Given the description of an element on the screen output the (x, y) to click on. 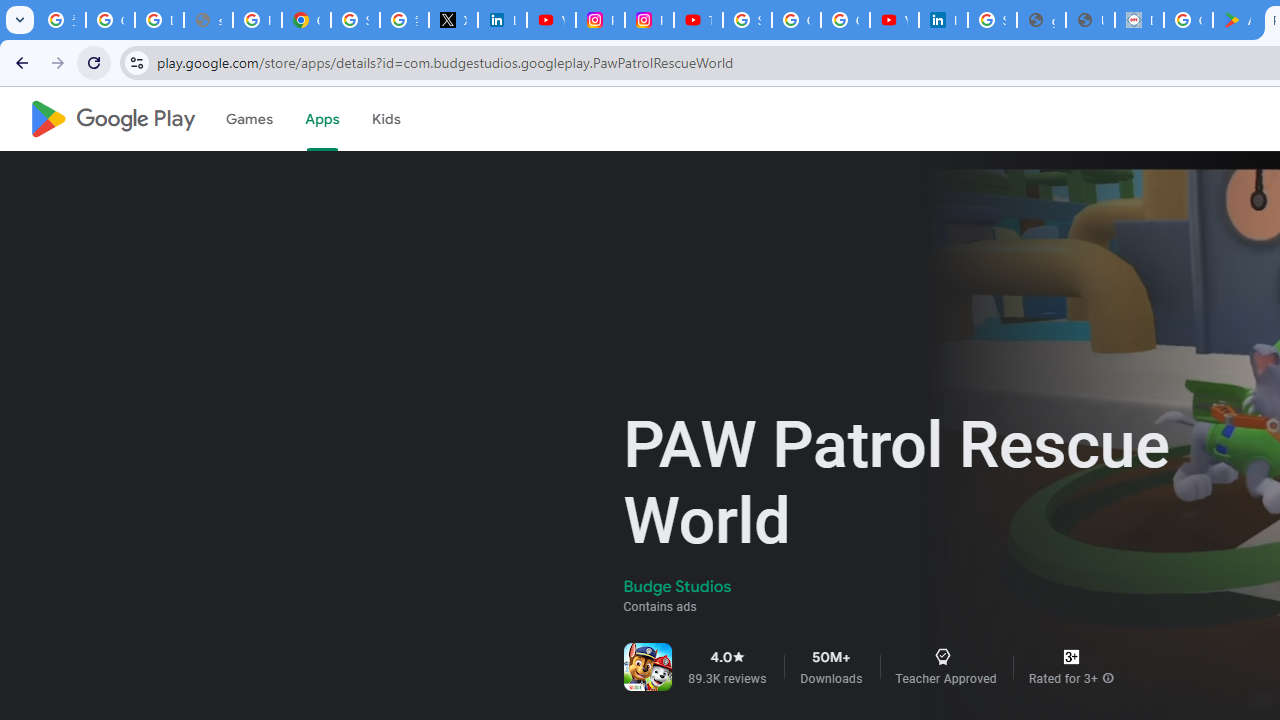
User Details (1090, 20)
Games (248, 119)
Apps (321, 119)
Privacy Help Center - Policies Help (257, 20)
